Given the description of an element on the screen output the (x, y) to click on. 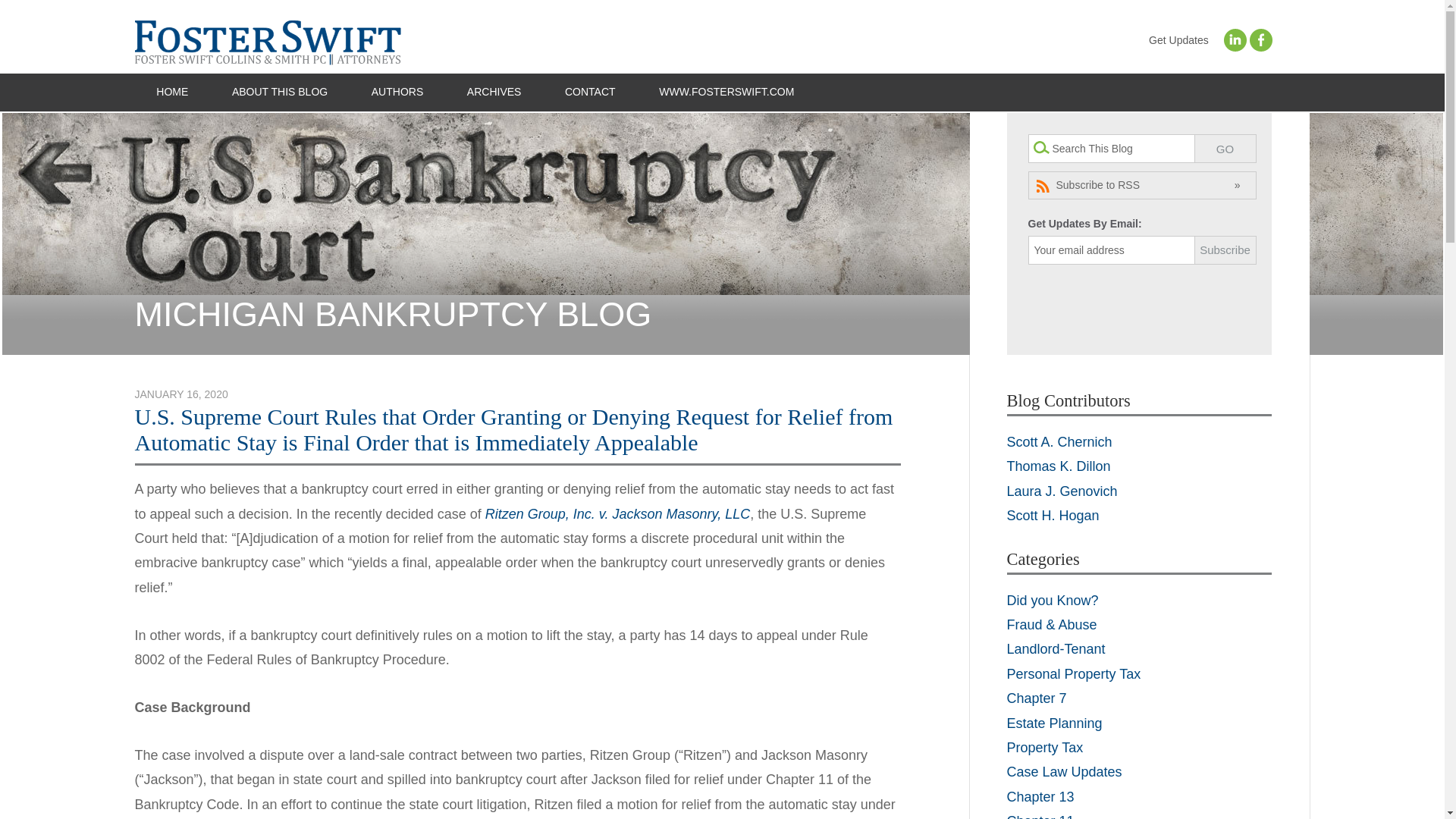
Subscribe (1224, 249)
Thomas K. Dillon (1058, 466)
GO (1224, 148)
AUTHORS (397, 92)
Ritzen Group v. Jackson Masonry (616, 513)
Chapter 11 (1040, 816)
Subscribe (1224, 249)
WWW.FOSTERSWIFT.COM (726, 92)
HOME (173, 92)
ABOUT THIS BLOG (279, 92)
